Given the description of an element on the screen output the (x, y) to click on. 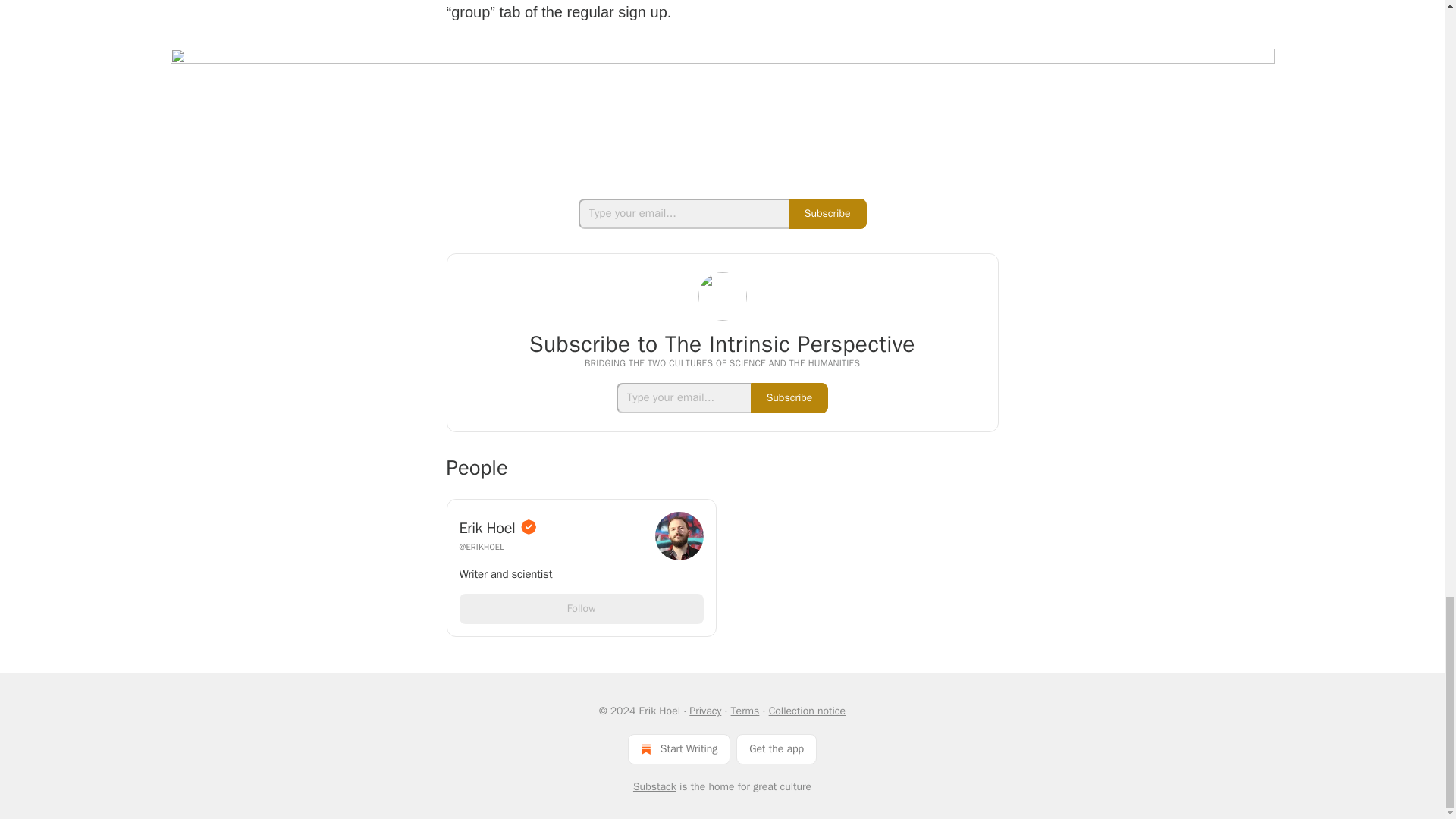
Privacy (704, 710)
Erik Hoel  (553, 527)
Follow (581, 608)
Subscribe (827, 214)
Terms (745, 710)
Subscribe (789, 398)
